Given the description of an element on the screen output the (x, y) to click on. 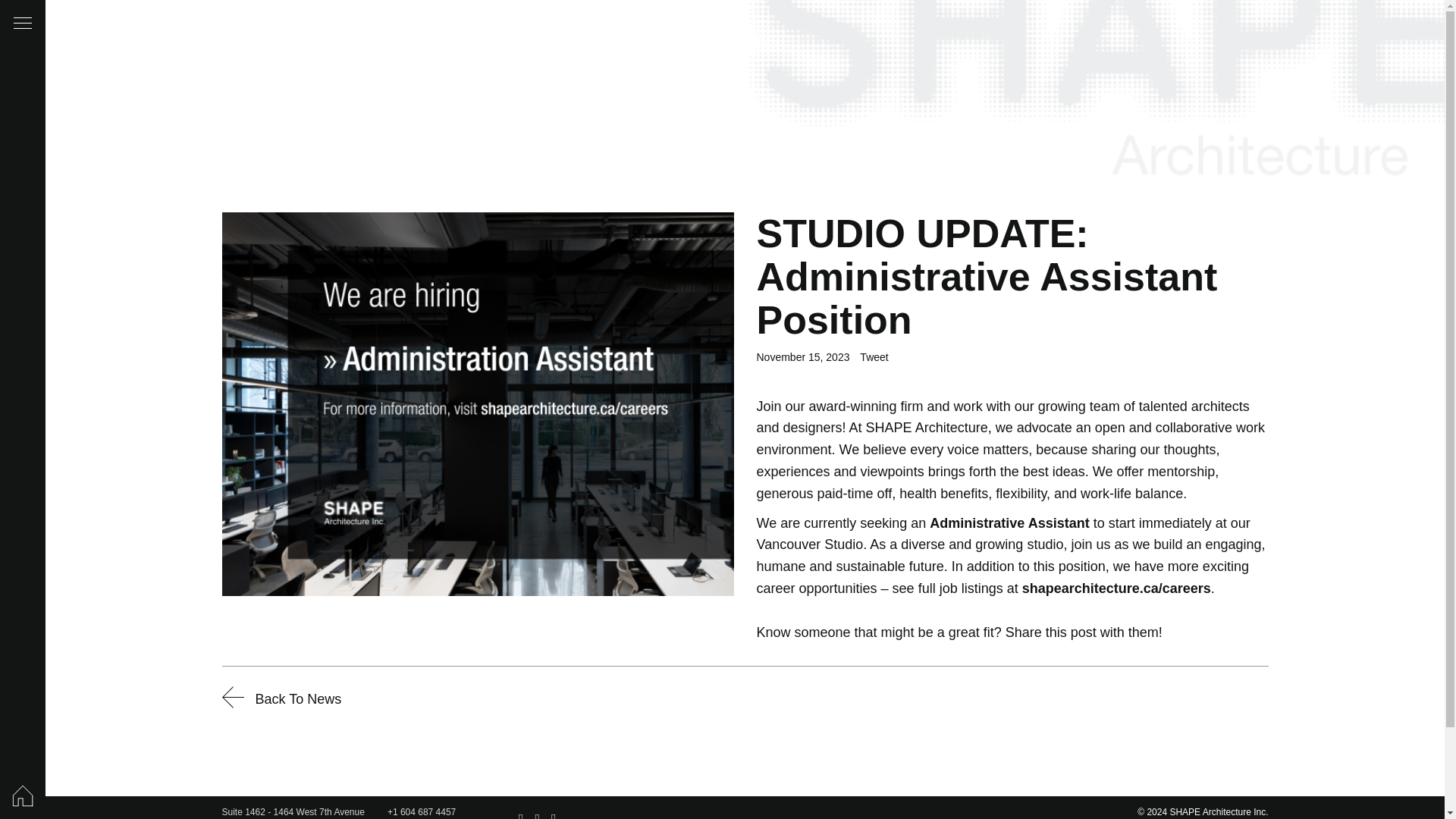
Open Menu (22, 22)
Back To News (280, 698)
Home (292, 812)
Tweet (22, 796)
